Given the description of an element on the screen output the (x, y) to click on. 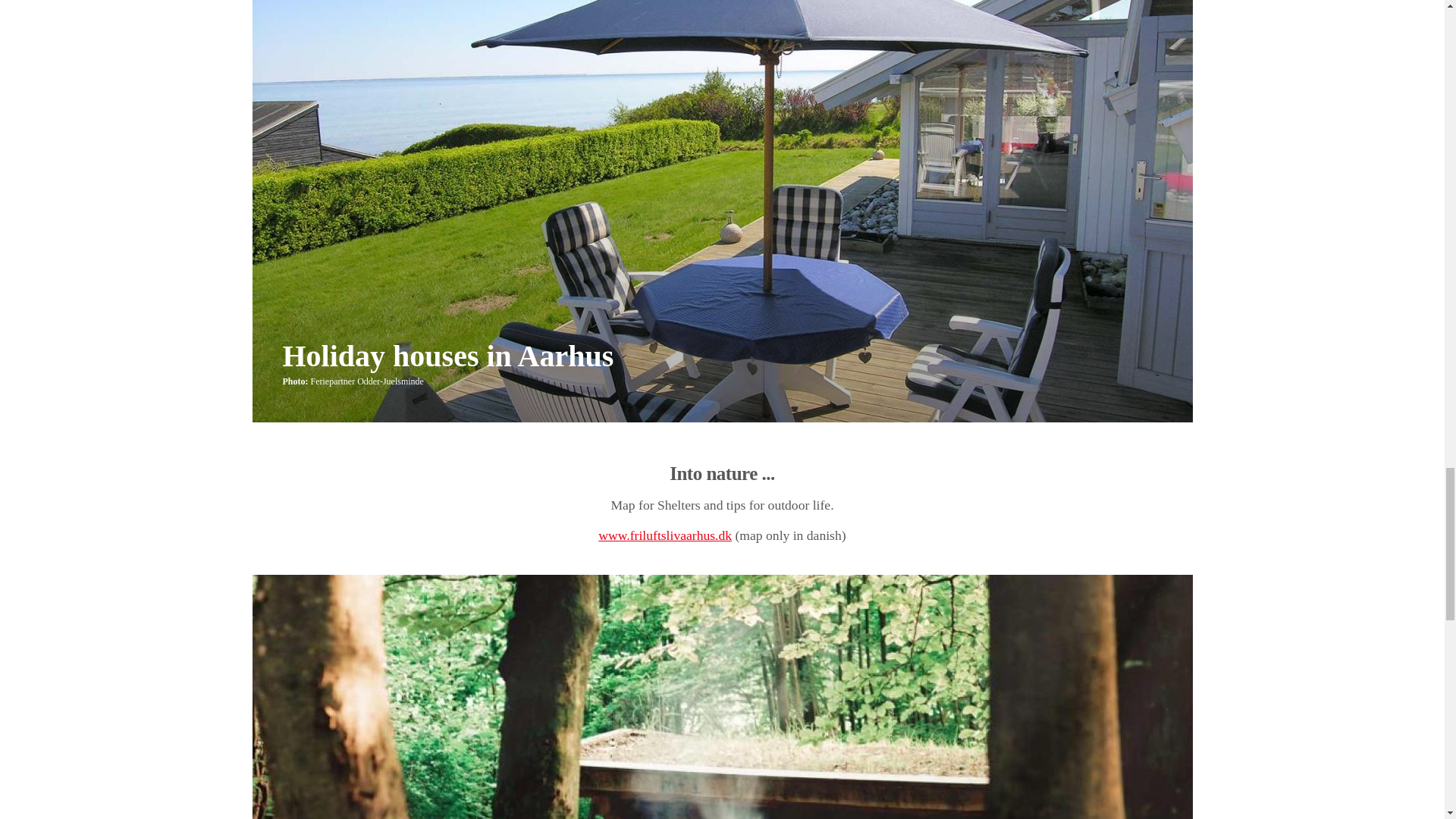
Holiday houses in Aarhus (447, 355)
www.friluftslivaarhus.dk (665, 534)
www.friluftslivaarhus.dk (665, 534)
Holiday houses in Aarhus (447, 355)
